Given the description of an element on the screen output the (x, y) to click on. 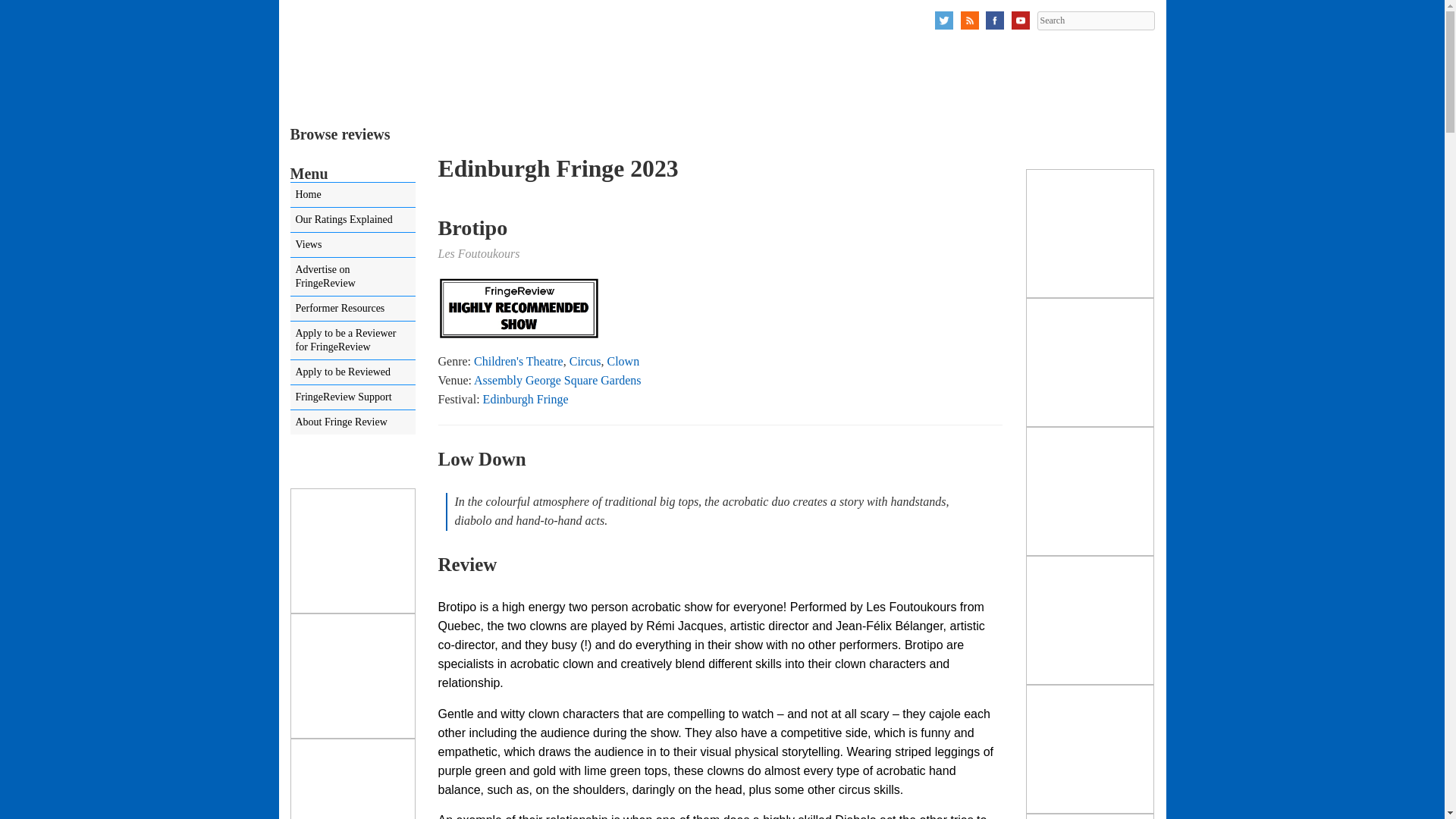
Search for: (1095, 20)
Search (1095, 20)
About Fringe Review (351, 422)
Views (351, 244)
Performer Resources (351, 308)
Search (1095, 20)
Our Ratings Explained (351, 219)
Home (351, 194)
Apply to be Reviewed (351, 372)
Advertise on FringeReview (351, 276)
